Given the description of an element on the screen output the (x, y) to click on. 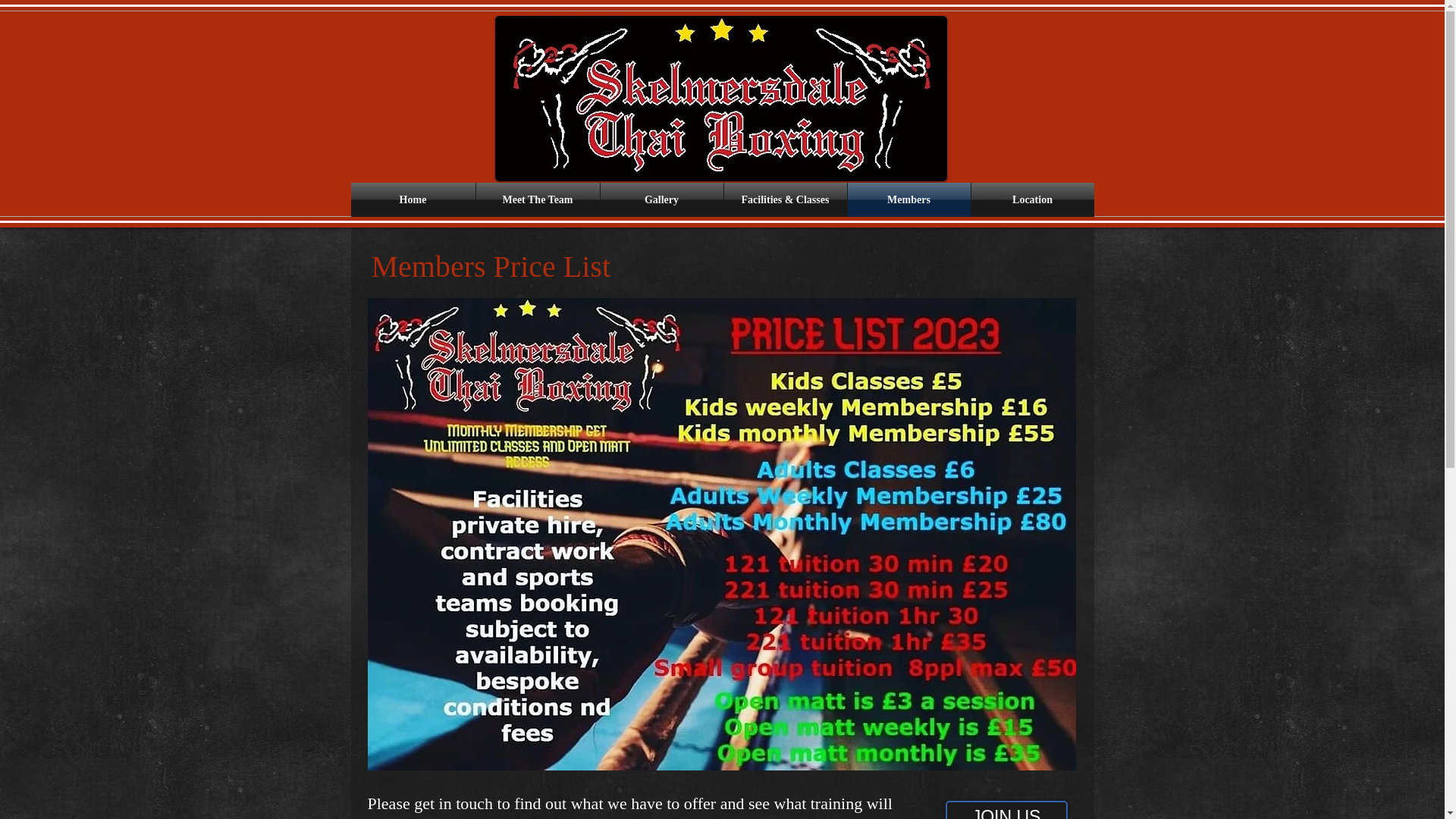
Members (909, 199)
Home (412, 199)
Location (1032, 199)
JOIN US (1005, 809)
Meet The Team (537, 199)
Gallery (661, 199)
